Given the description of an element on the screen output the (x, y) to click on. 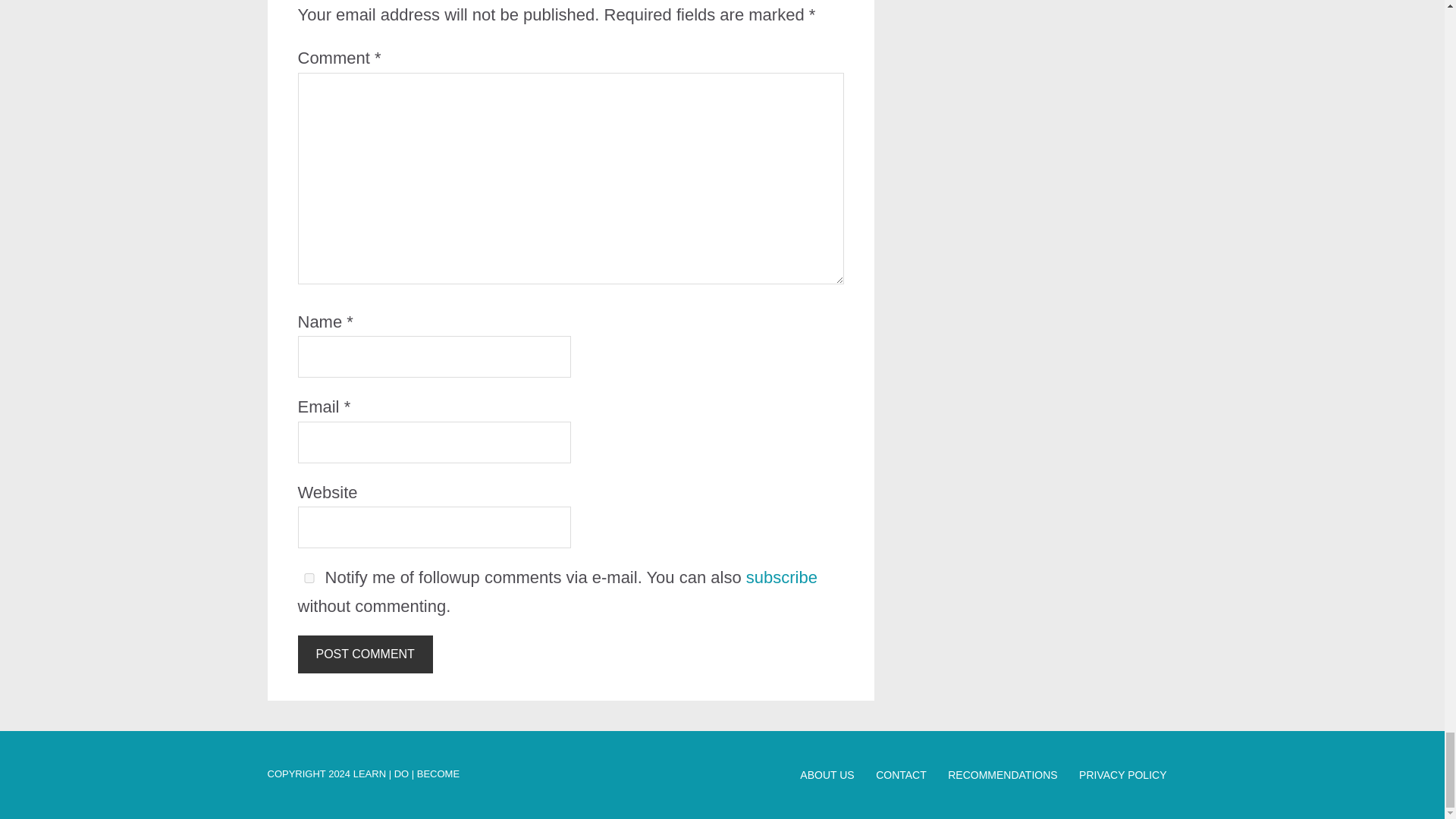
yes (308, 578)
Post Comment (364, 654)
